Given the description of an element on the screen output the (x, y) to click on. 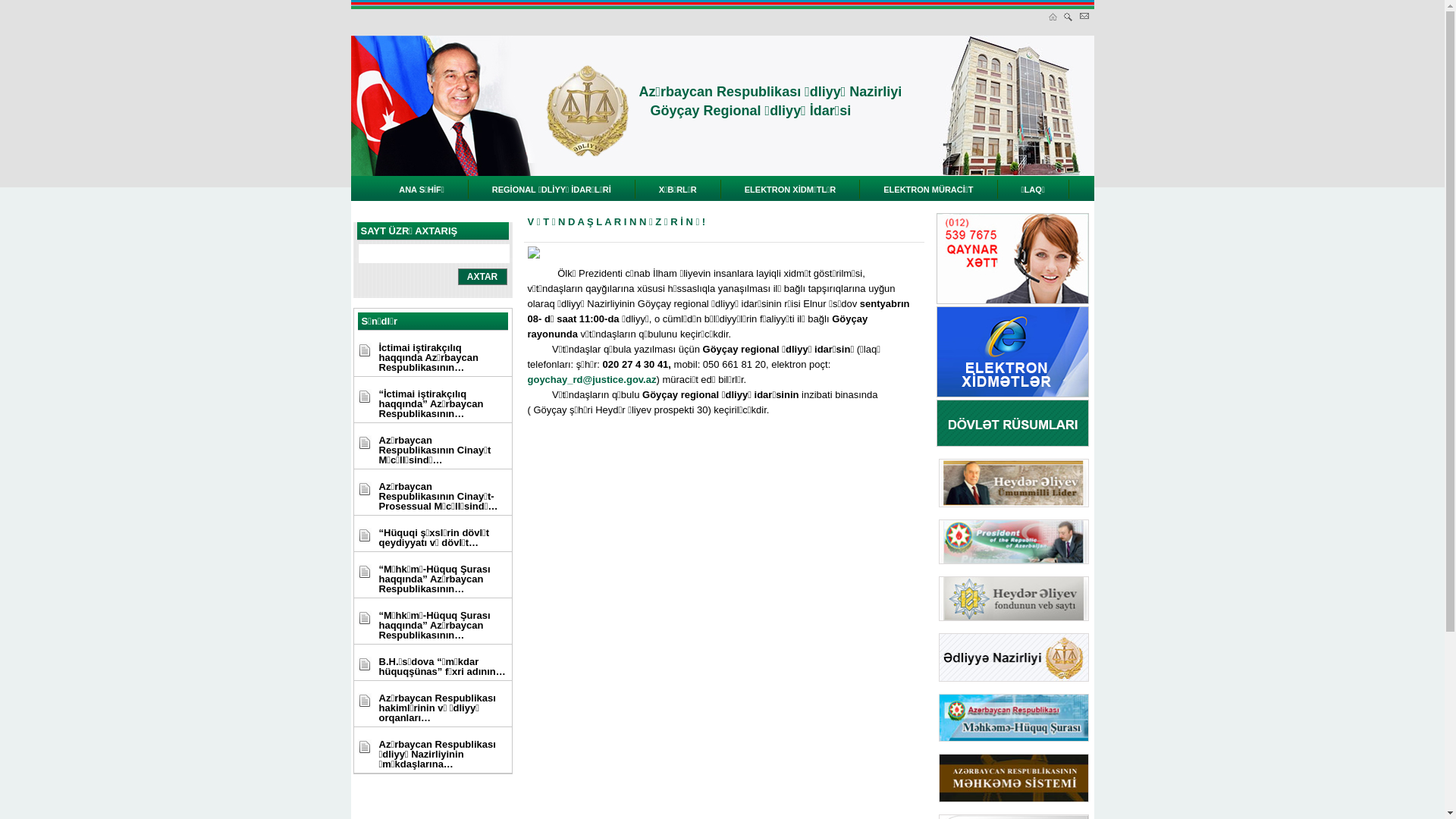
AXTAR Element type: text (482, 276)
goychay_rd@justice.gov.az Element type: text (591, 379)
